Given the description of an element on the screen output the (x, y) to click on. 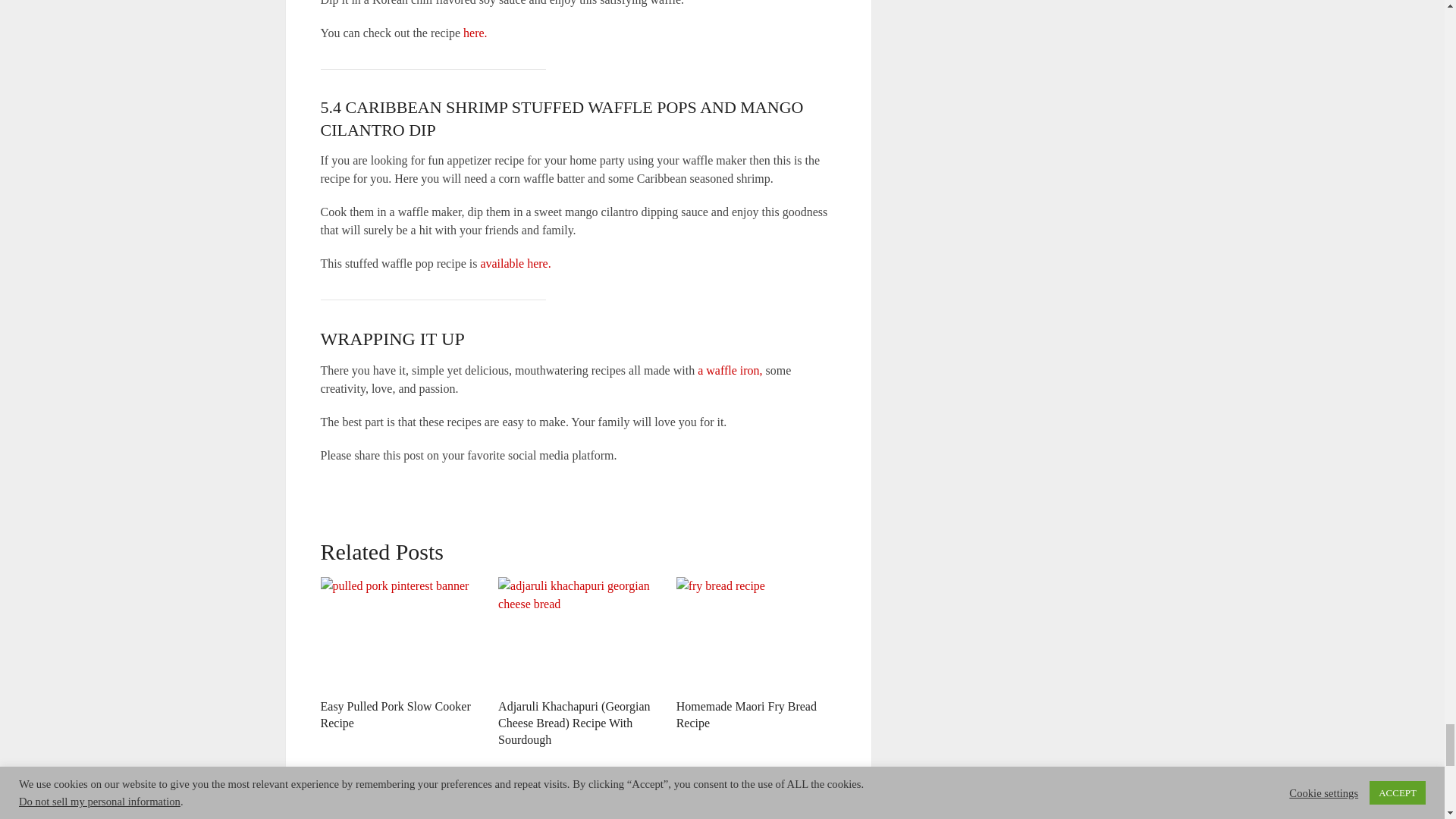
Easy Pulled Pork Slow Cooker Recipe (400, 634)
Easy Pulled Pork Slow Cooker Recipe (395, 714)
